Given the description of an element on the screen output the (x, y) to click on. 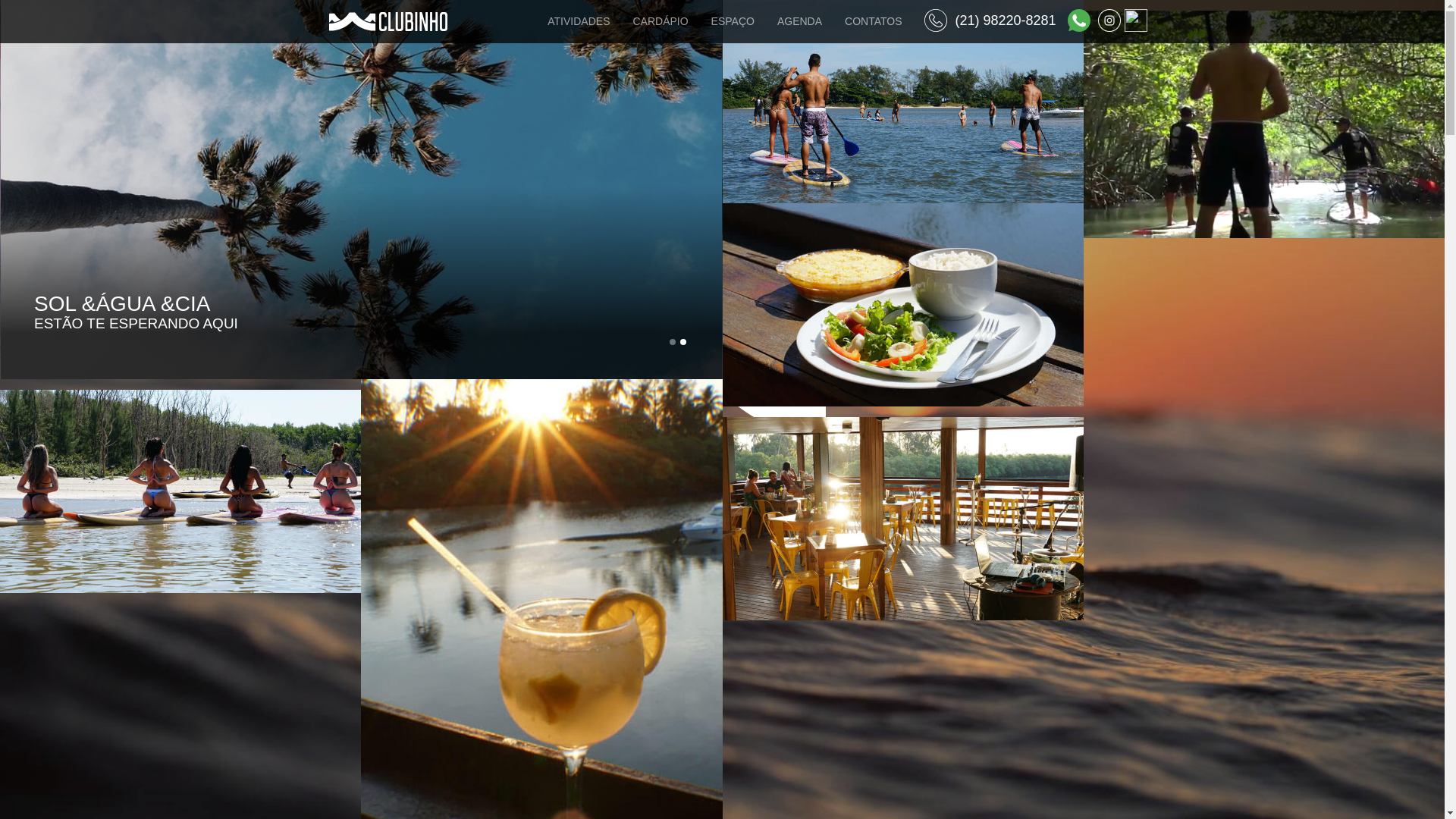
(21) 98220-8281 Element type: text (989, 20)
